Given the description of an element on the screen output the (x, y) to click on. 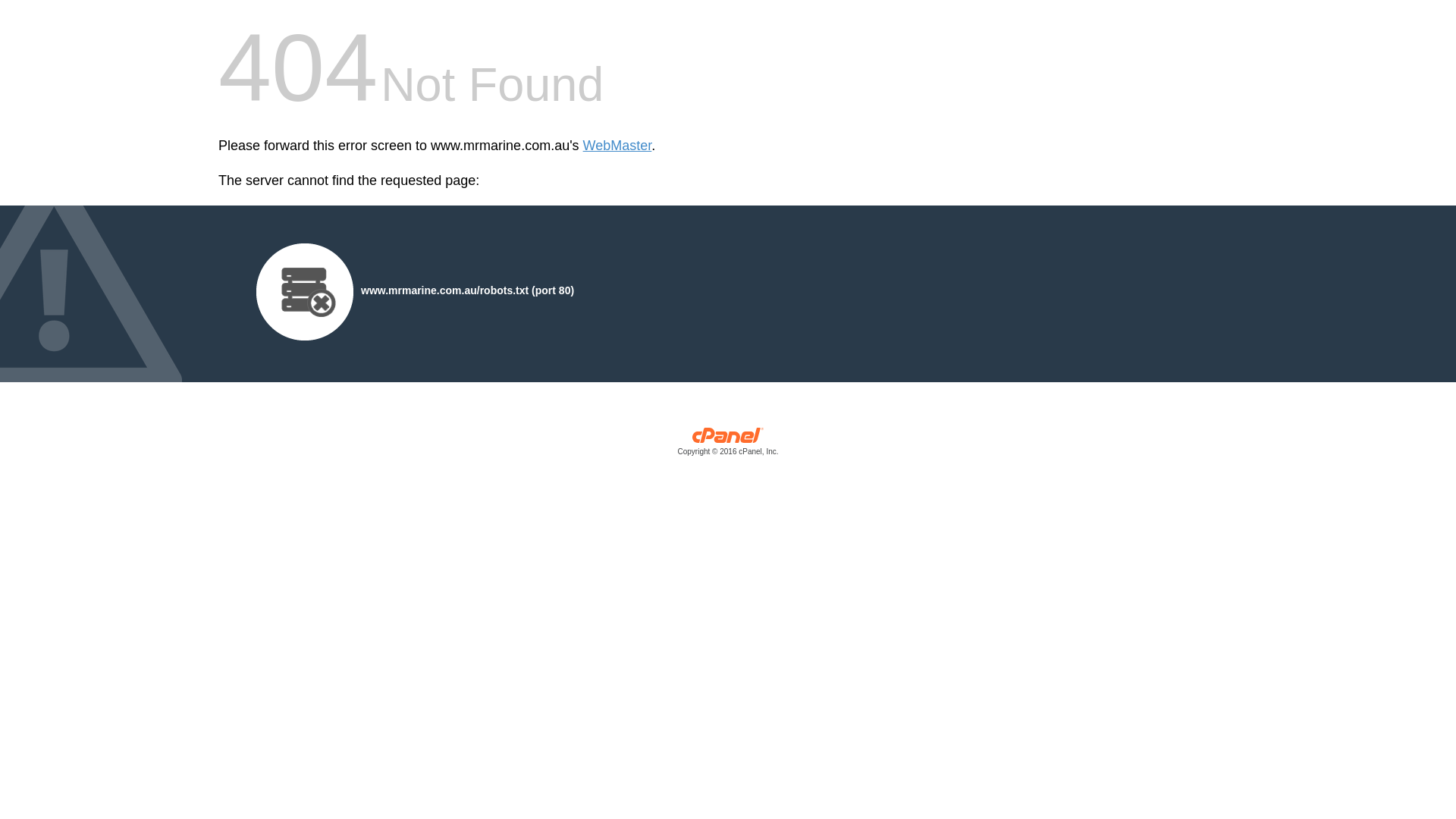
WebMaster Element type: text (617, 145)
